Given the description of an element on the screen output the (x, y) to click on. 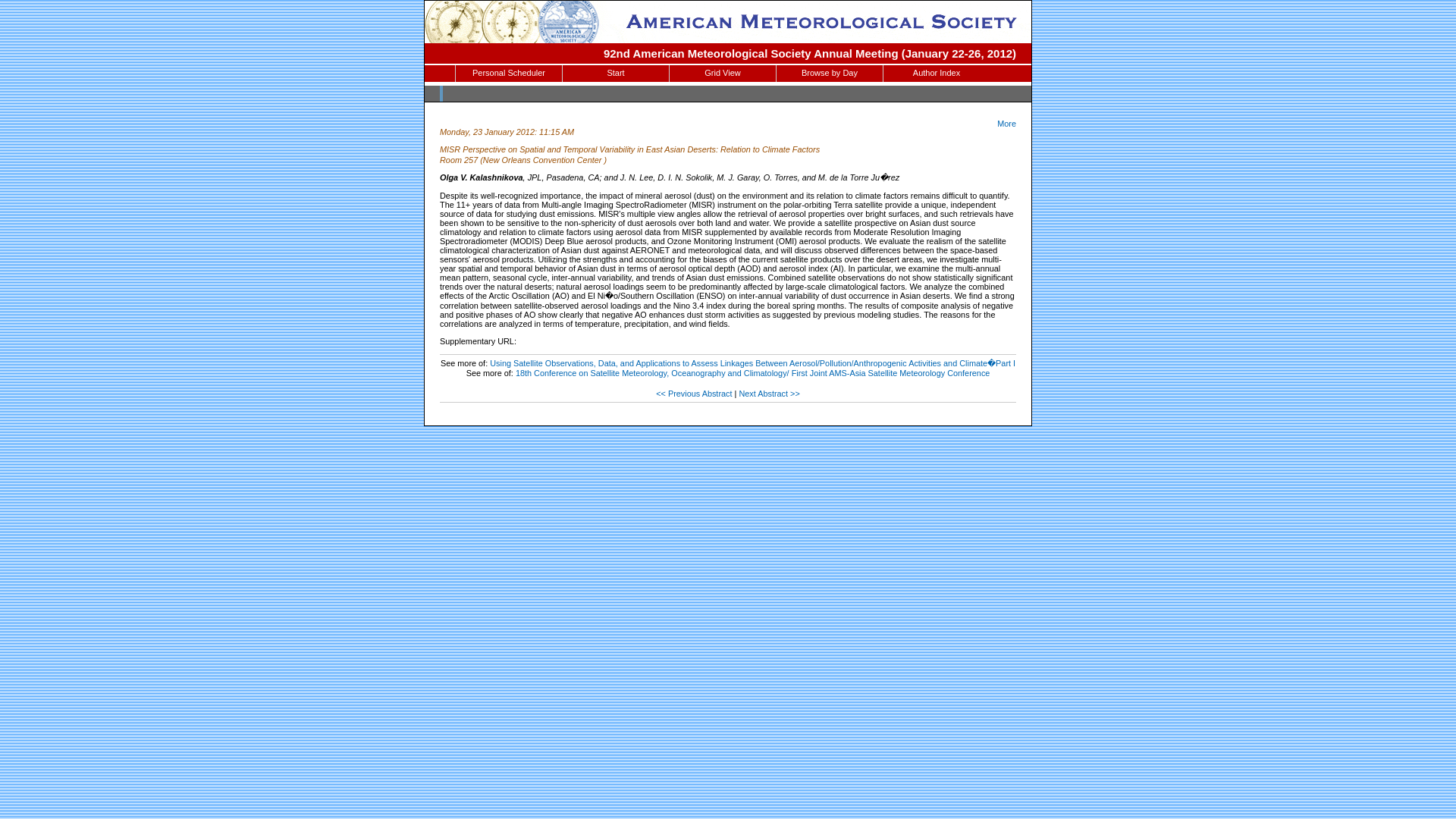
Browse by Day (829, 73)
Grid View (722, 73)
More (1006, 122)
Start (615, 73)
Personal Scheduler (508, 73)
Author Index (936, 73)
